Given the description of an element on the screen output the (x, y) to click on. 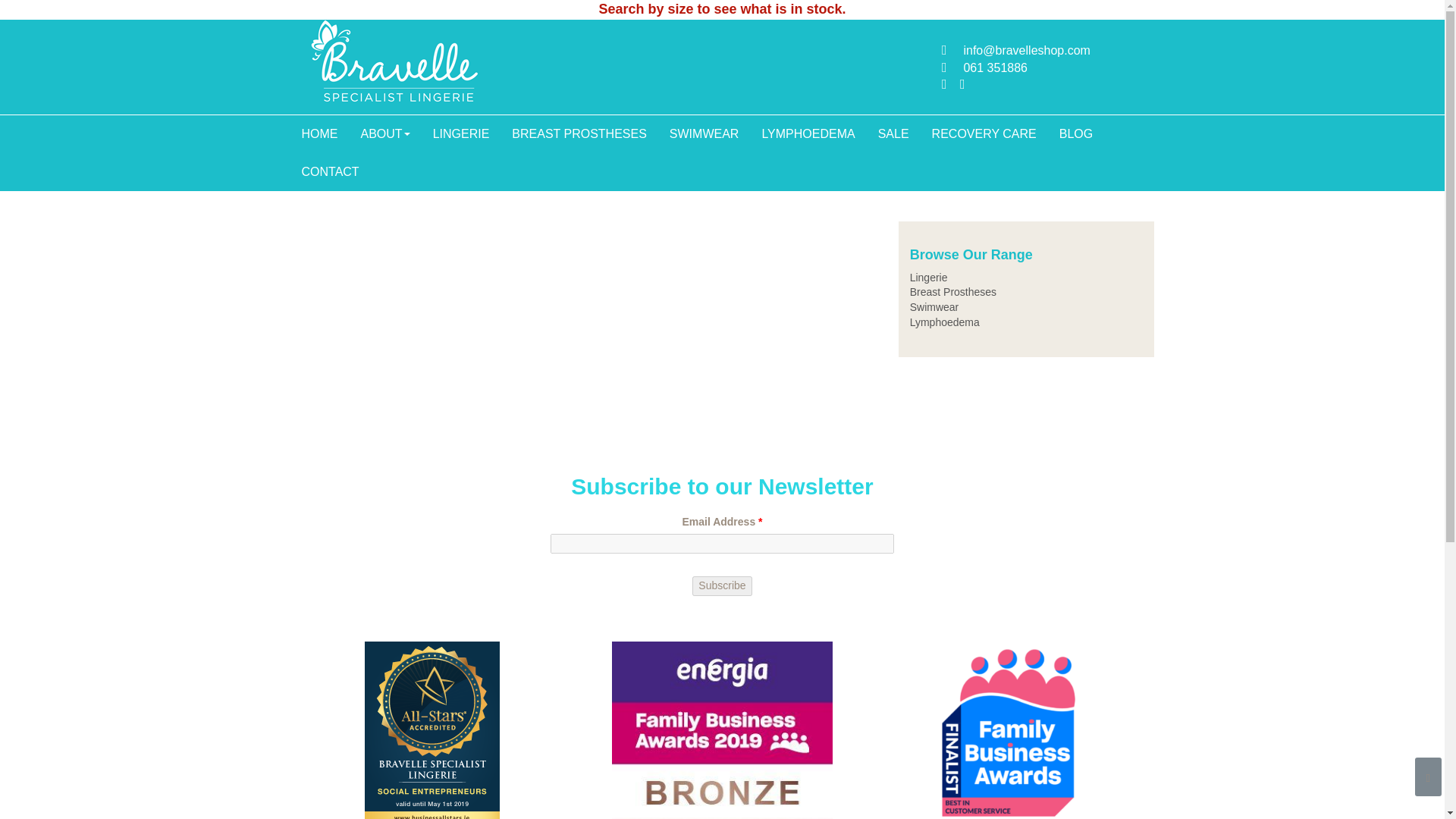
LYMPHOEDEMA (807, 134)
Lymphoedema (944, 322)
ABOUT (384, 134)
Subscribe (722, 586)
Subscribe (722, 586)
SALE (893, 134)
LINGERIE (461, 134)
Swimwear (934, 306)
SWIMWEAR (704, 134)
HOME (319, 134)
